Given the description of an element on the screen output the (x, y) to click on. 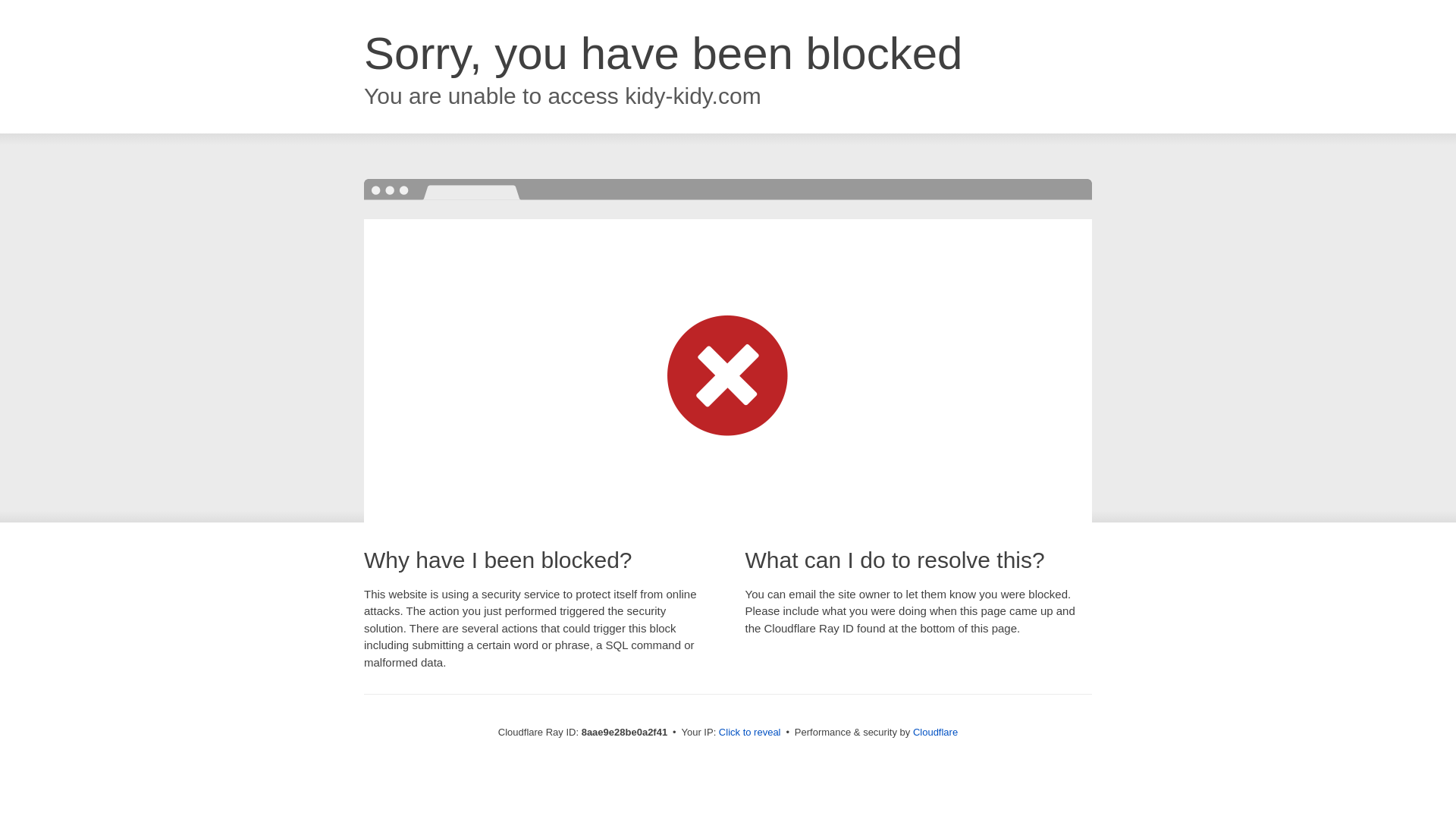
Cloudflare (935, 731)
Click to reveal (749, 732)
